Given the description of an element on the screen output the (x, y) to click on. 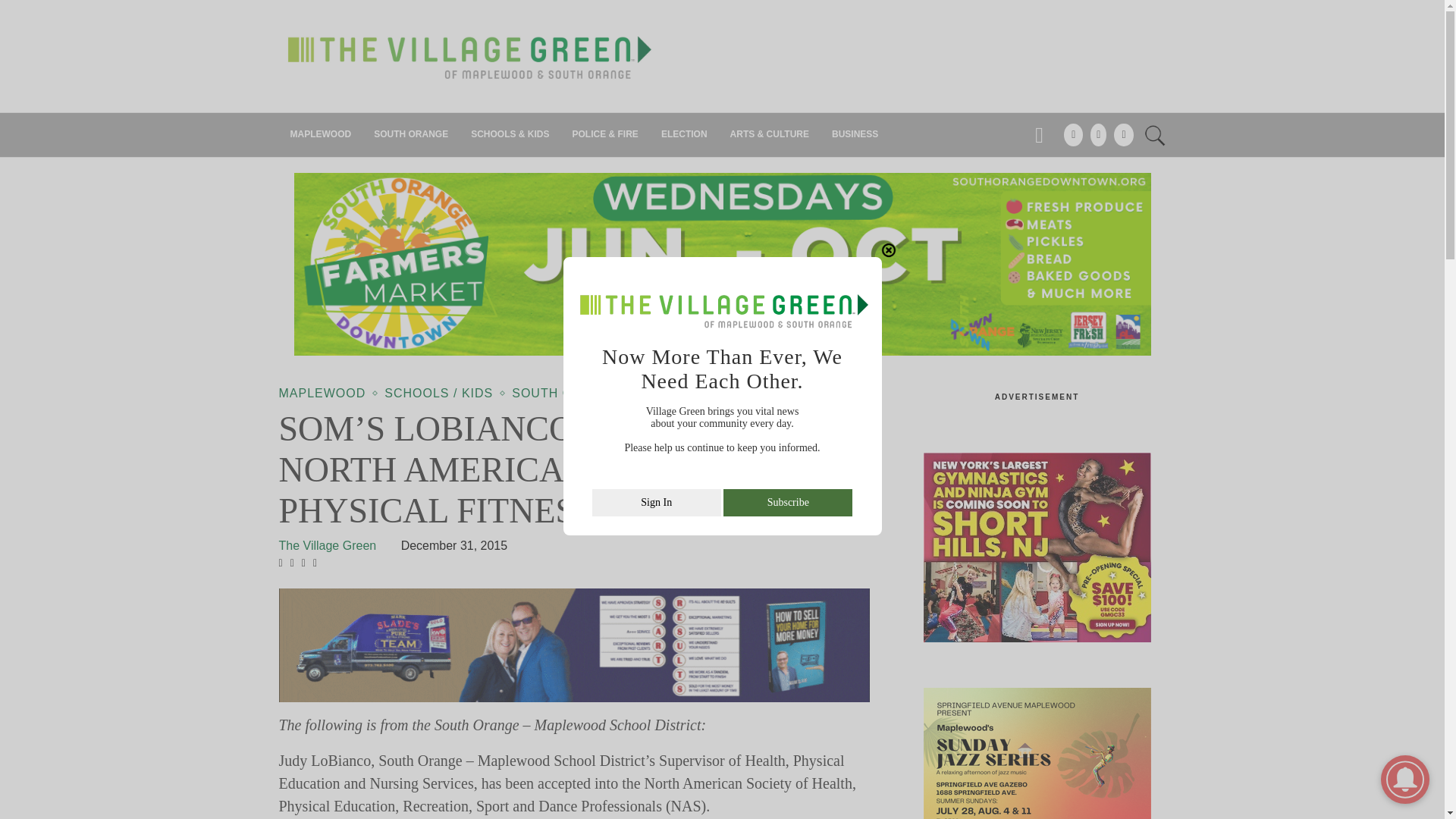
MAPLEWOOD (320, 135)
ADVERTISE (873, 75)
NEWSLETTER (1069, 75)
Mark Slade Homes (574, 644)
SUBSCRIBE (810, 75)
CONTACT (1131, 75)
BUSINESS (855, 135)
ANNOUNCEMENTS (948, 75)
ABOUT (1012, 75)
SOUTH ORANGE (411, 135)
ELECTION (684, 135)
